Given the description of an element on the screen output the (x, y) to click on. 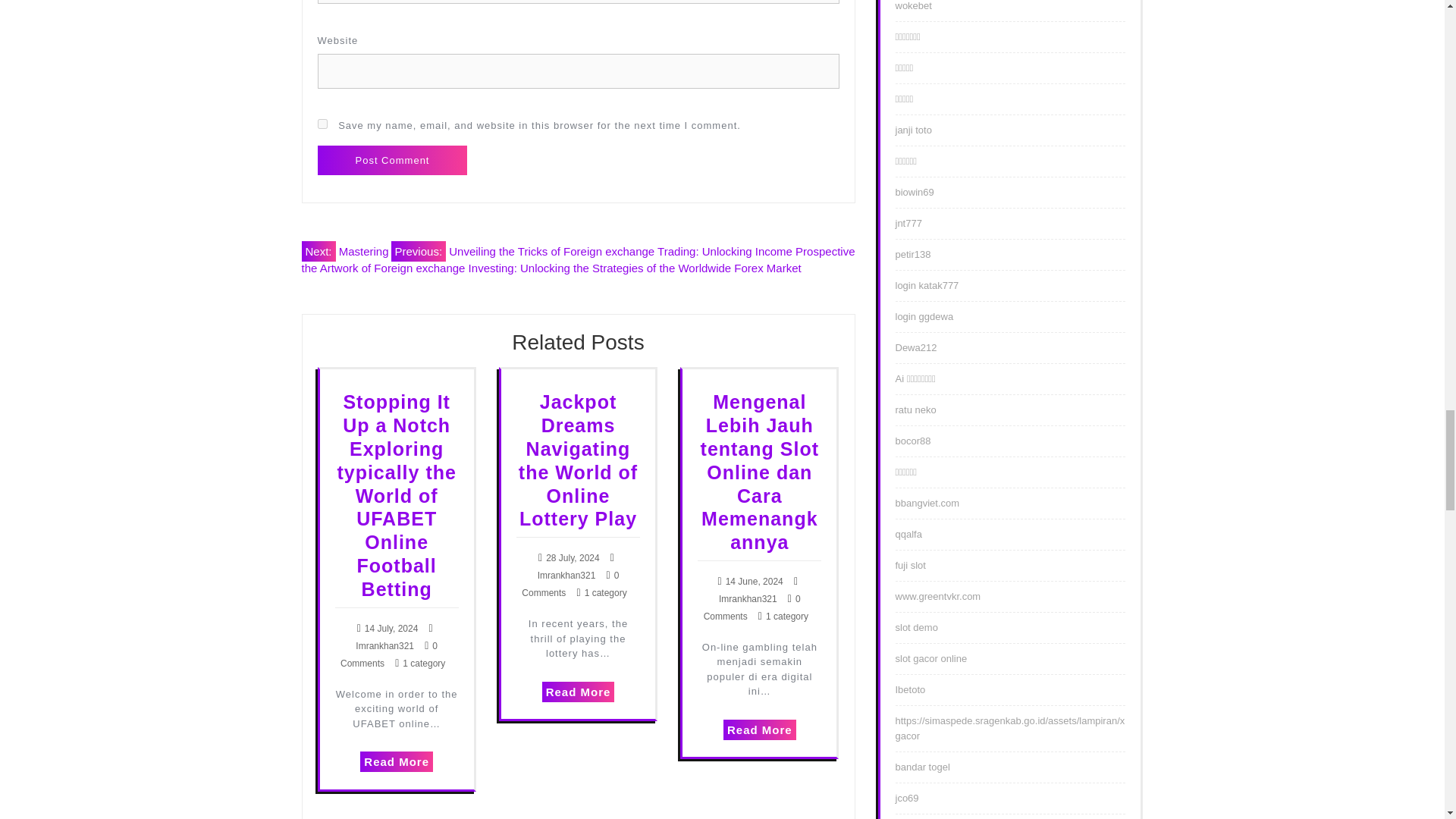
Read More (577, 691)
yes (321, 123)
Read More (759, 729)
Jackpot Dreams Navigating the World of Online Lottery Play (577, 460)
Jackpot Dreams Navigating the World of Online Lottery Play (577, 460)
Post Comment (392, 160)
Read More (395, 761)
Post Comment (392, 160)
Read More (395, 761)
